Given the description of an element on the screen output the (x, y) to click on. 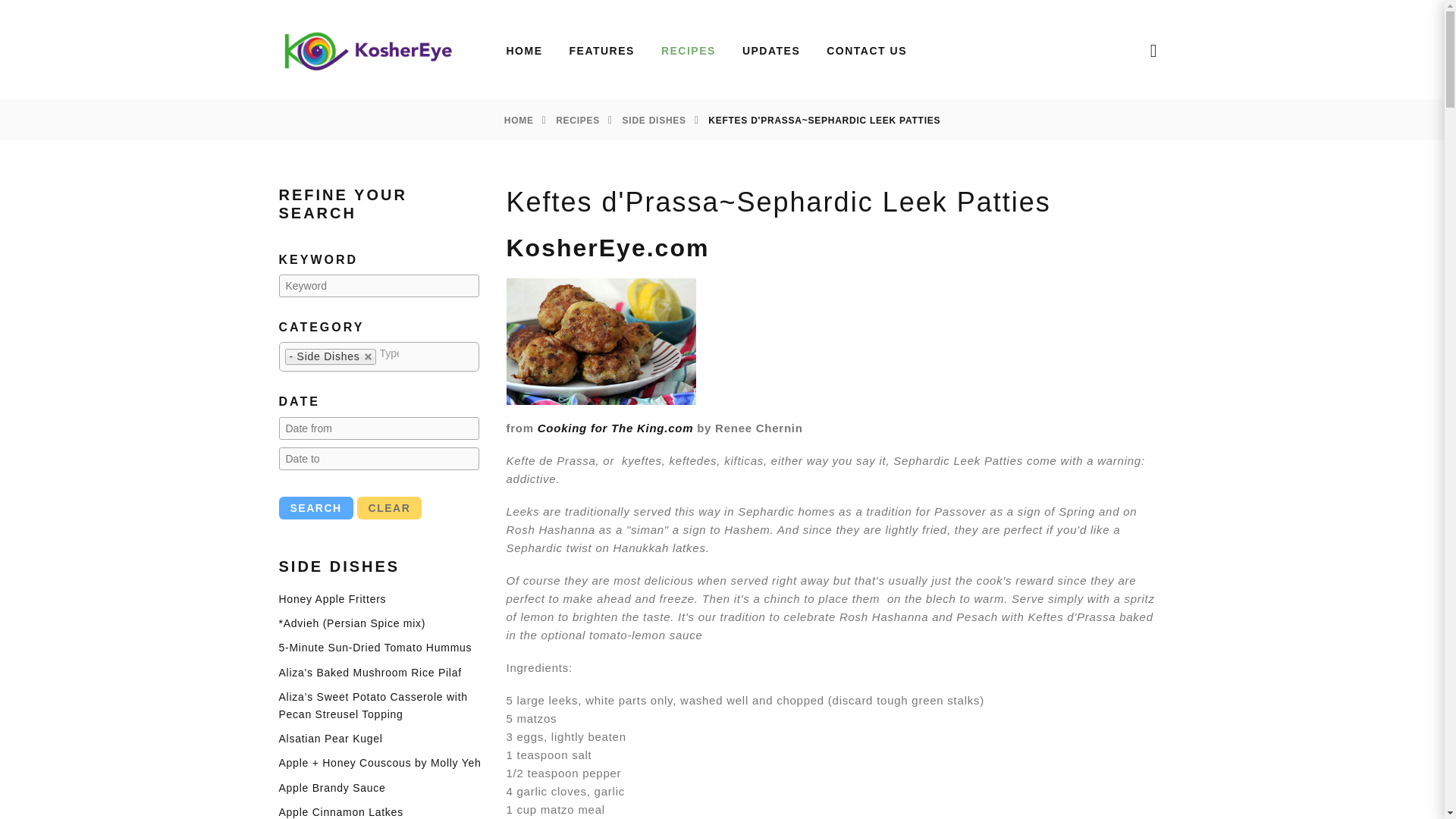
Type or select some options (389, 353)
Clear (389, 507)
Search (316, 507)
